Given the description of an element on the screen output the (x, y) to click on. 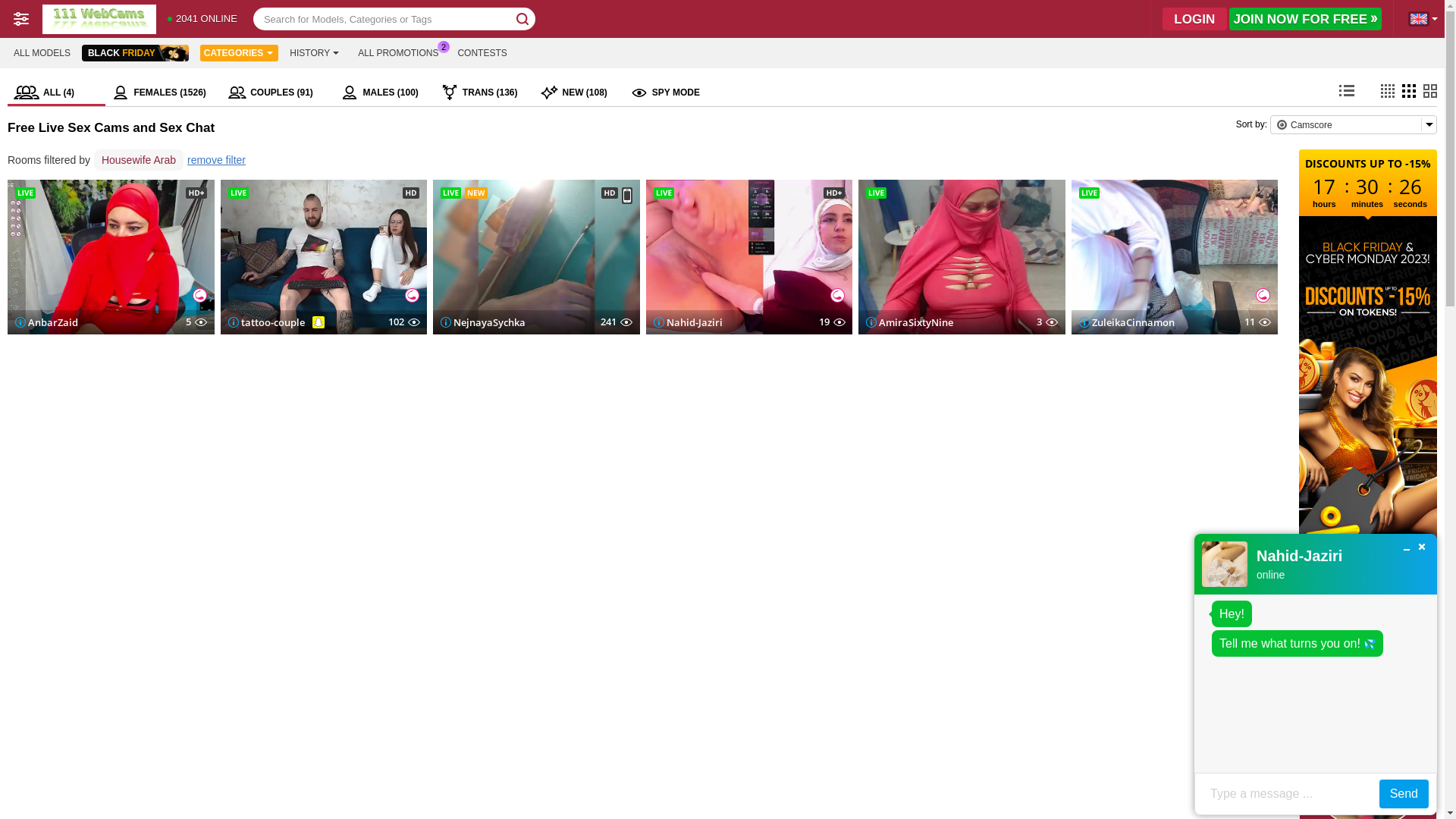
AnbarZaid Element type: text (46, 322)
tattoo-couple Element type: text (265, 322)
NEW (108) Element type: text (578, 92)
FEMALES (1526) Element type: text (163, 92)
AmiraSixtyNine Element type: text (909, 322)
ALL MODELS Element type: text (42, 52)
Nahid-Jaziri Element type: text (687, 322)
ALL PROMOTIONS Element type: text (397, 52)
CONTESTS Element type: text (481, 52)
JOIN NOW FOR FREE Element type: text (1305, 18)
ALL (4) Element type: text (56, 92)
remove filter Element type: text (216, 159)
COUPLES (91) Element type: text (278, 92)
LOGIN Element type: text (1194, 18)
SPY MODE Element type: text (665, 92)
Send Element type: text (1403, 793)
MALES (100) Element type: text (384, 92)
NejnayaSychka Element type: text (482, 322)
TRANS (136) Element type: text (484, 92)
BLACK FRIDAY Element type: text (134, 52)
ZuleikaCinnamon Element type: text (1125, 322)
